Given the description of an element on the screen output the (x, y) to click on. 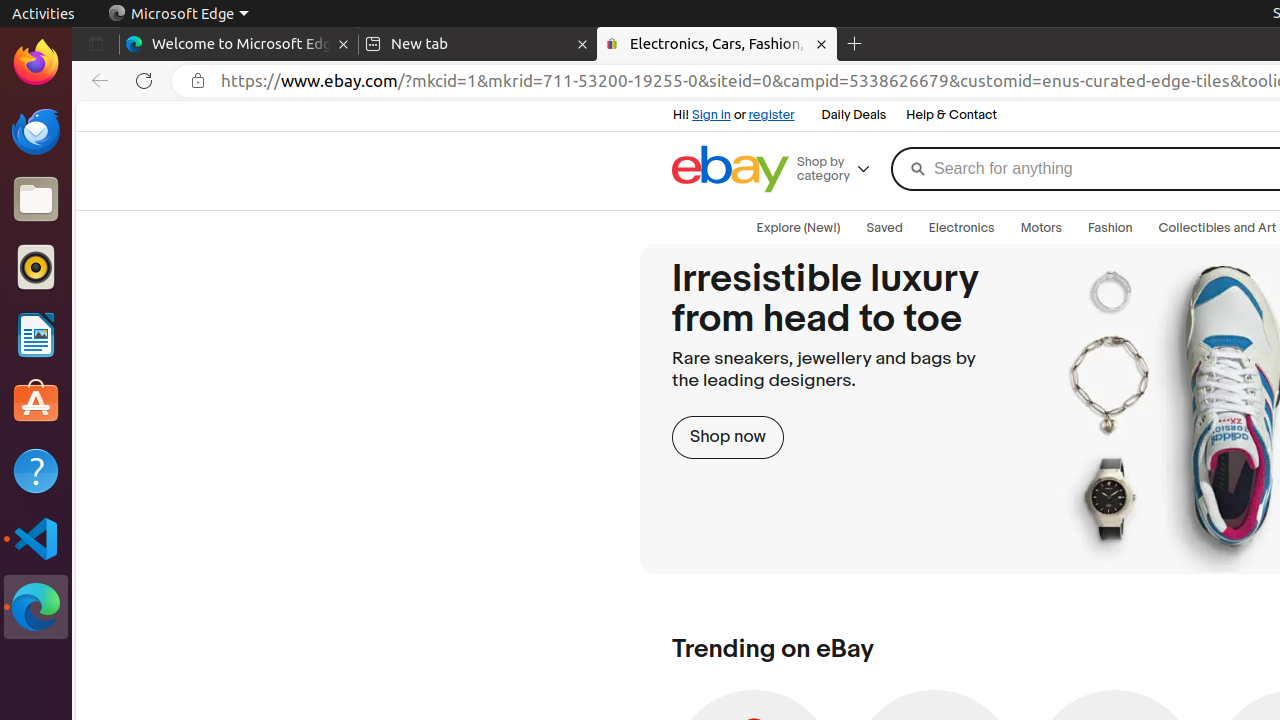
Motors Element type: link (1041, 228)
Firefox Web Browser Element type: push-button (36, 63)
Close tab Element type: push-button (343, 44)
New tab Element type: page-tab (478, 44)
Visual Studio Code Element type: push-button (36, 538)
